Given the description of an element on the screen output the (x, y) to click on. 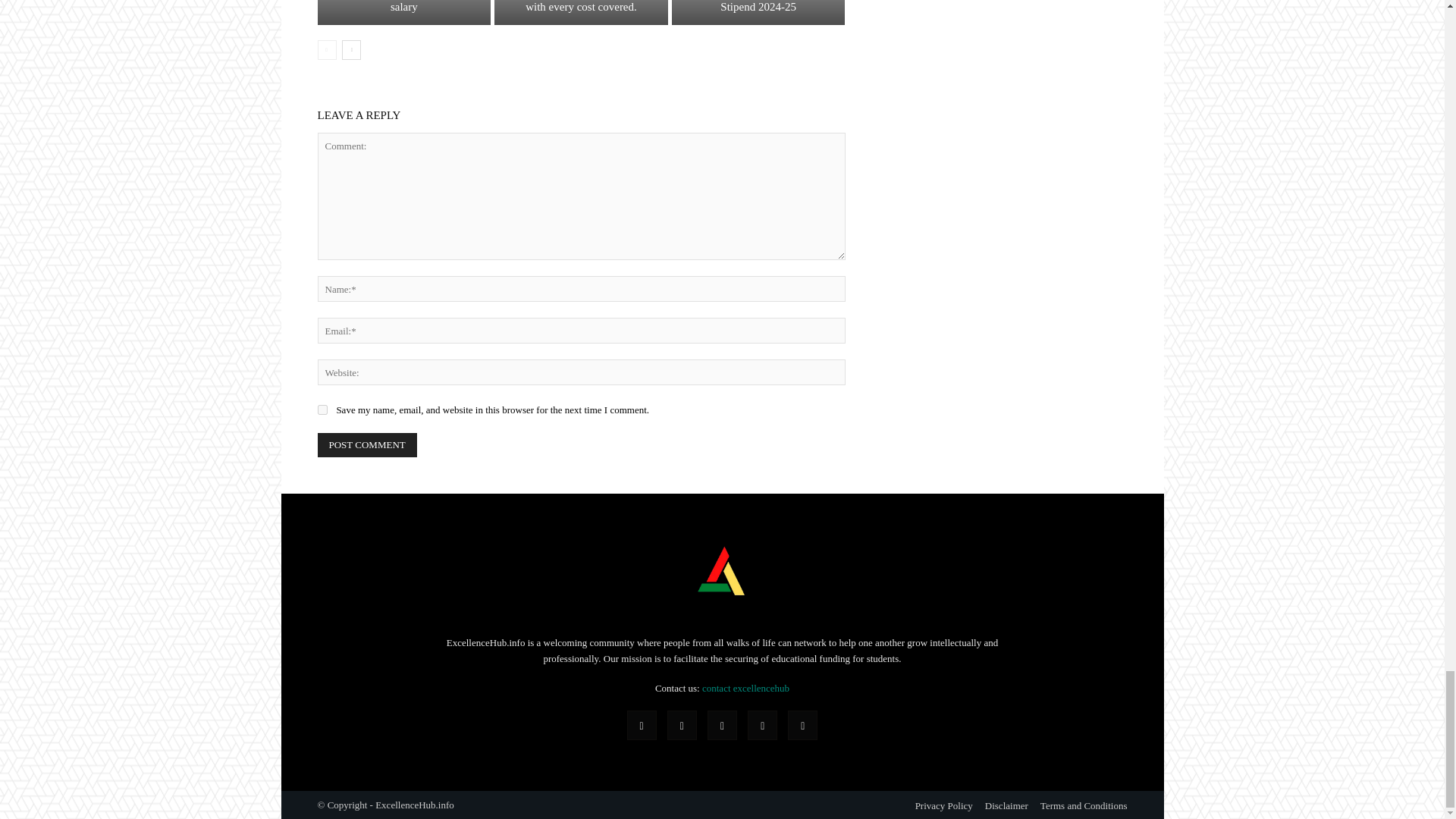
Post Comment (366, 445)
yes (321, 409)
